Given the description of an element on the screen output the (x, y) to click on. 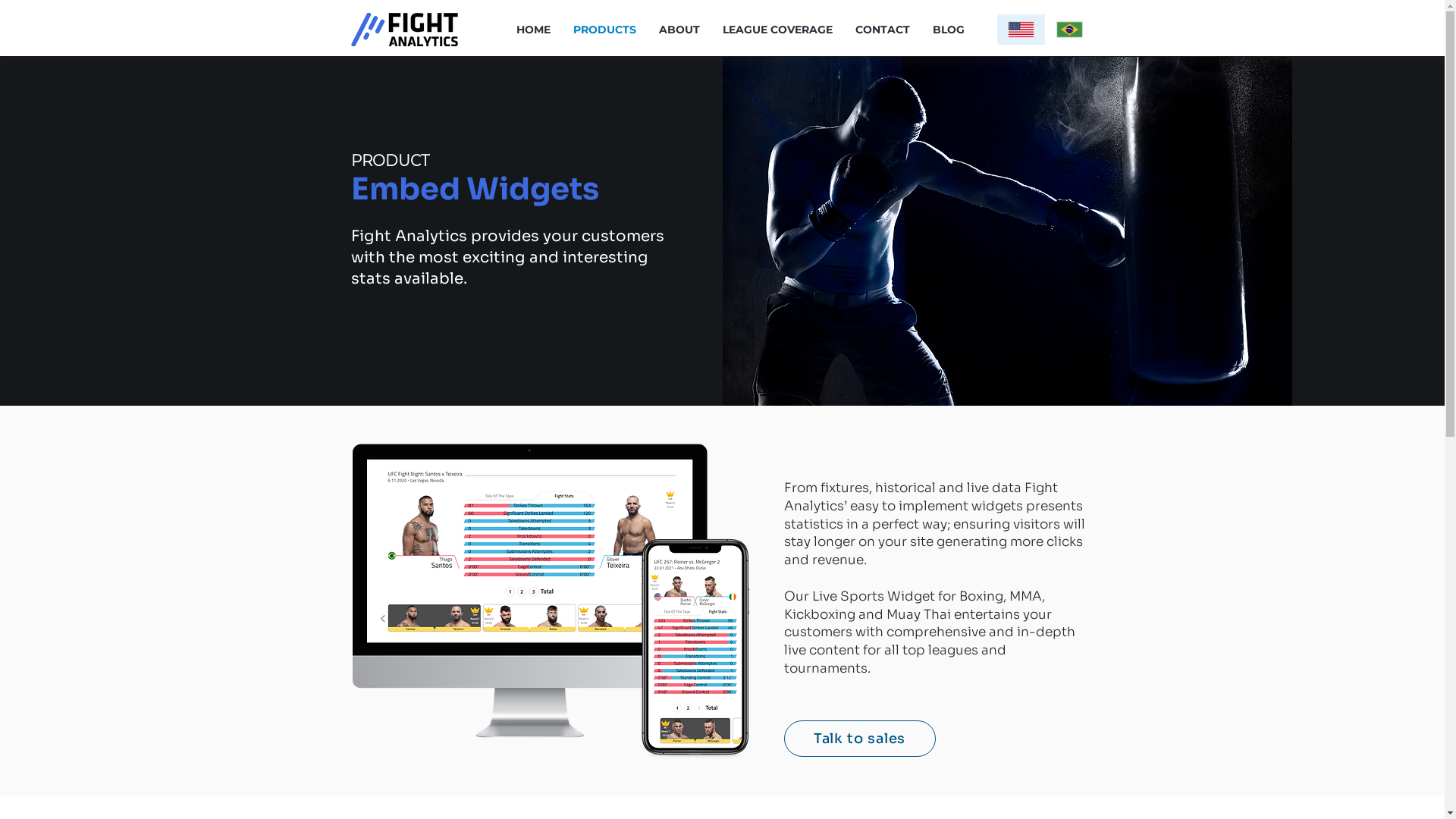
PRODUCTS Element type: text (603, 29)
HOME Element type: text (533, 29)
Talk to sales Element type: text (859, 738)
LEAGUE COVERAGE Element type: text (777, 29)
BLOG Element type: text (947, 29)
ABOUT Element type: text (679, 29)
CONTACT Element type: text (881, 29)
